Given the description of an element on the screen output the (x, y) to click on. 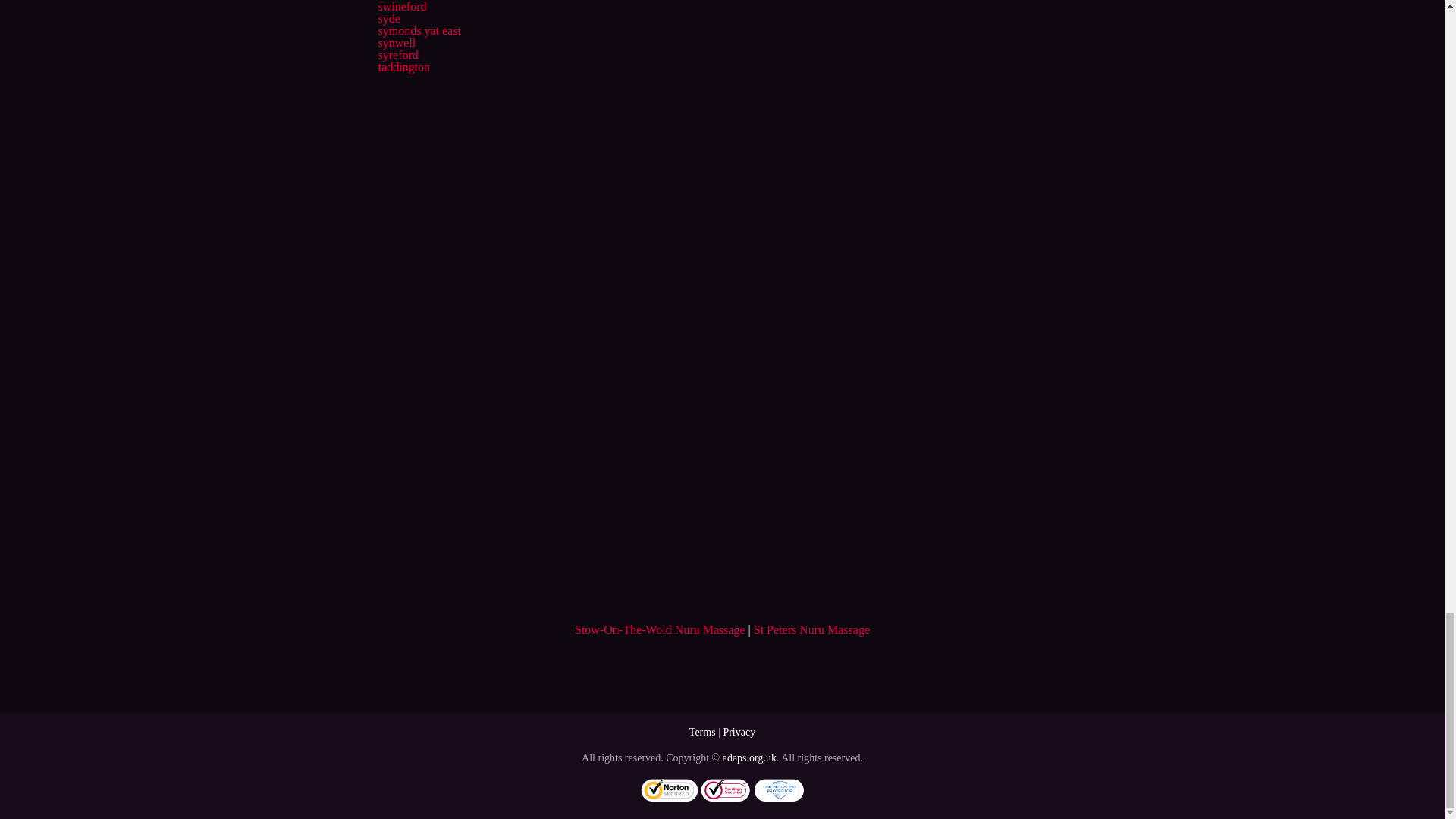
Stow-On-The-Wold Nuru Massage (659, 629)
Terms (702, 731)
adaps.org.uk (749, 757)
Privacy (738, 731)
swineford (401, 6)
symonds yat east (418, 30)
Privacy (738, 731)
St Peters Nuru Massage (811, 629)
syde (387, 18)
synwell (395, 42)
